Given the description of an element on the screen output the (x, y) to click on. 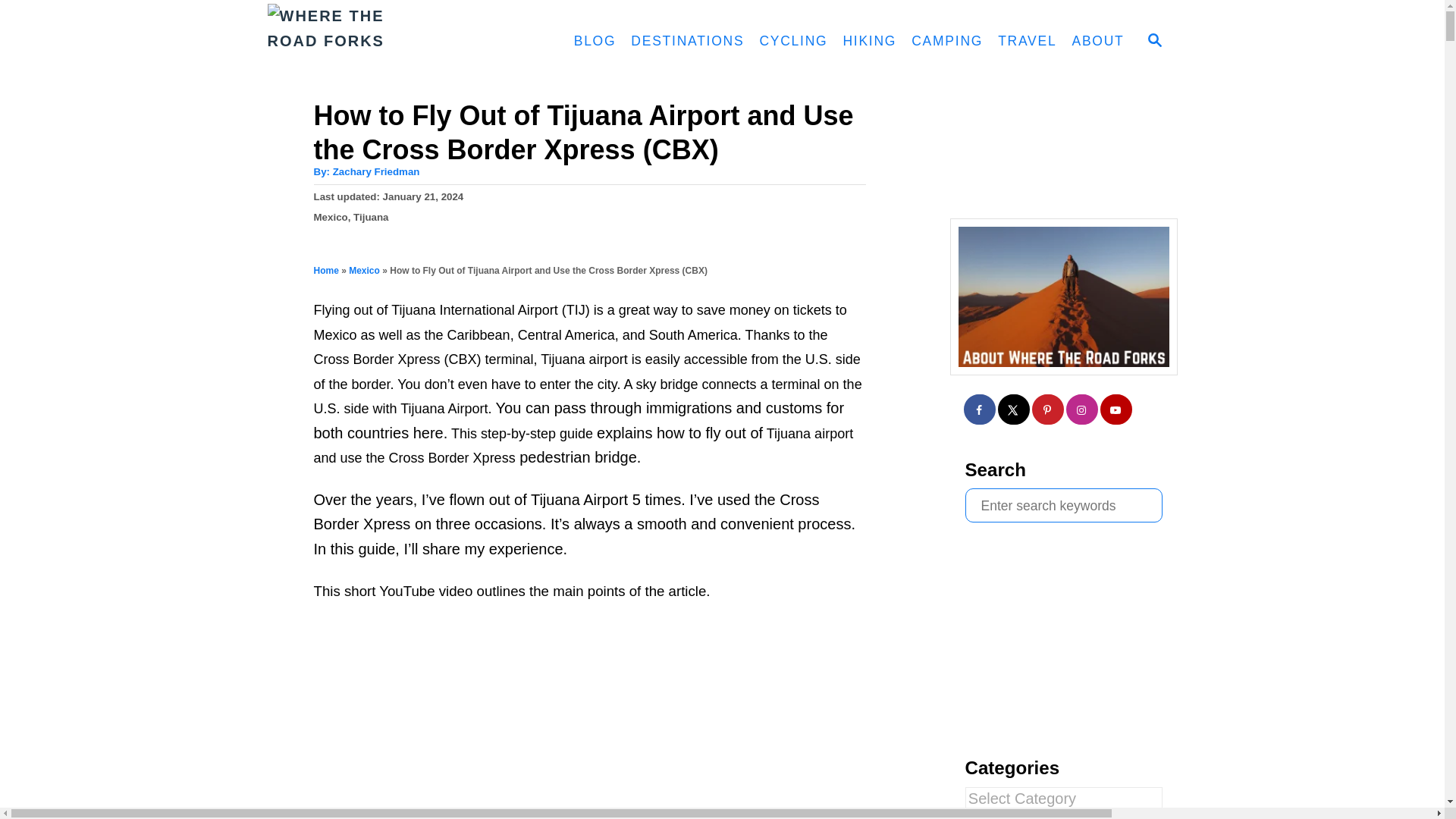
Mexico (330, 216)
Follow on X (1013, 409)
Home (326, 270)
Search for: (1062, 505)
Follow on Instagram (1082, 409)
Where The Road Forks (397, 41)
CYCLING (792, 41)
DESTINATIONS (687, 41)
CAMPING (947, 41)
ABOUT (1097, 41)
